Given the description of an element on the screen output the (x, y) to click on. 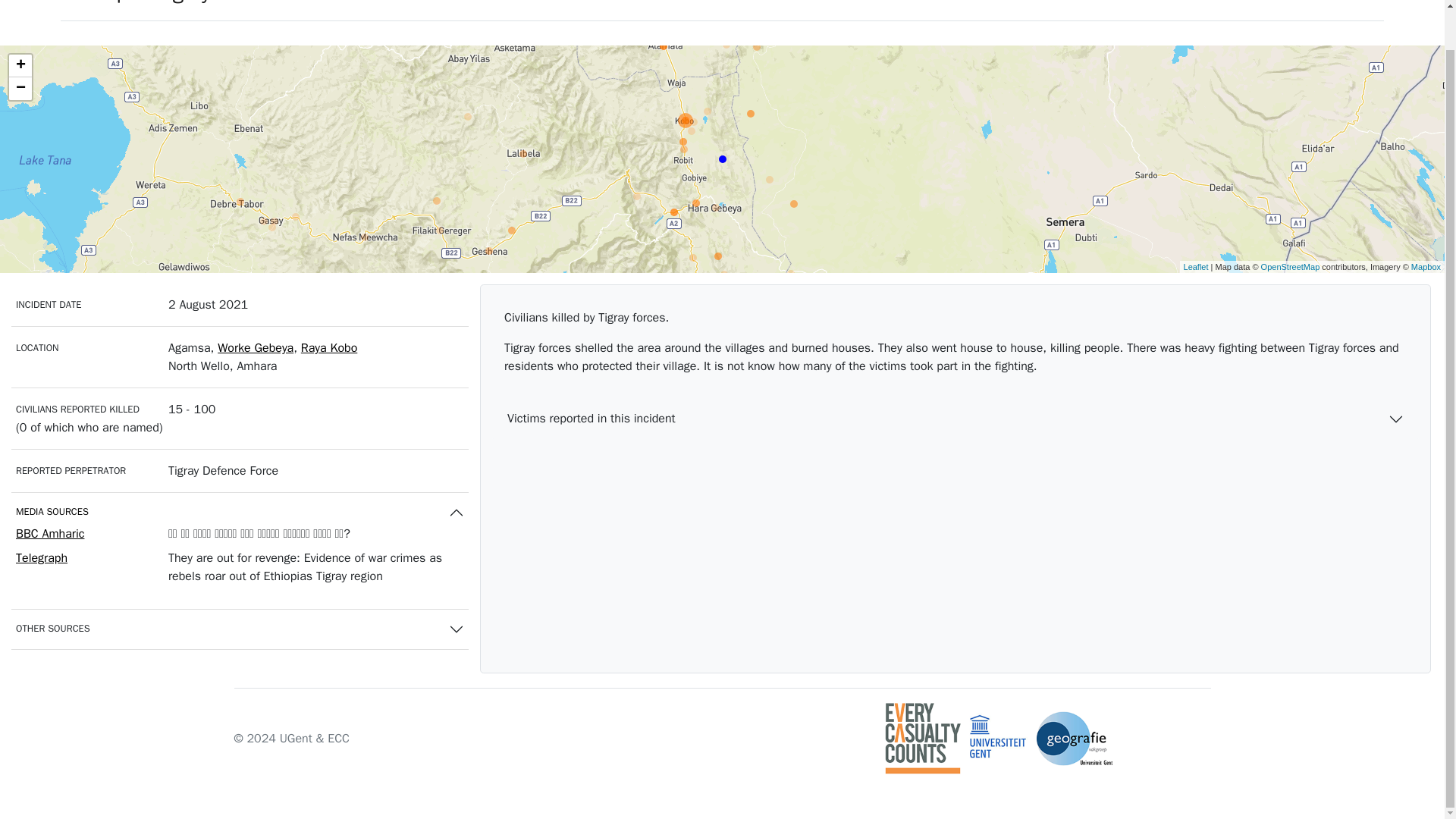
Incidents (1116, 3)
A JS library for interactive maps (1195, 266)
Leaflet (1195, 266)
About (1352, 3)
Zoom out (20, 87)
Victims (1184, 3)
Documentation (1267, 3)
Worke Gebeya (255, 347)
BBC Amharic (50, 533)
Go to more incidents in district Raya Kobo (328, 347)
Go to more incidents in the town Worke Gebeya (255, 347)
Zoom in (20, 65)
Raya Kobo (328, 347)
Mapbox (1425, 266)
OpenStreetMap (1290, 266)
